Given the description of an element on the screen output the (x, y) to click on. 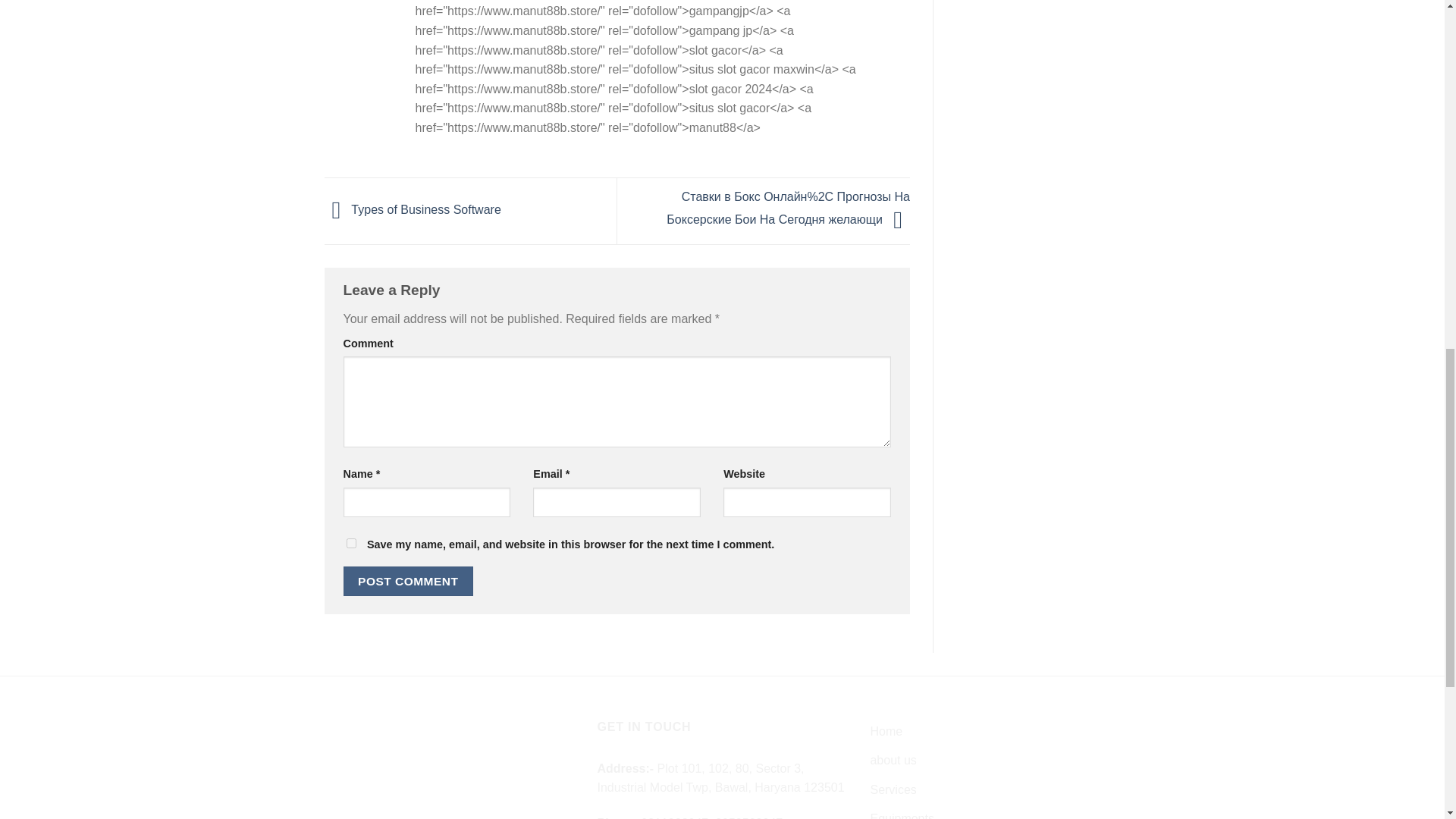
Post Comment (407, 581)
Post Comment (407, 581)
yes (350, 542)
Types of Business Software (412, 210)
